Given the description of an element on the screen output the (x, y) to click on. 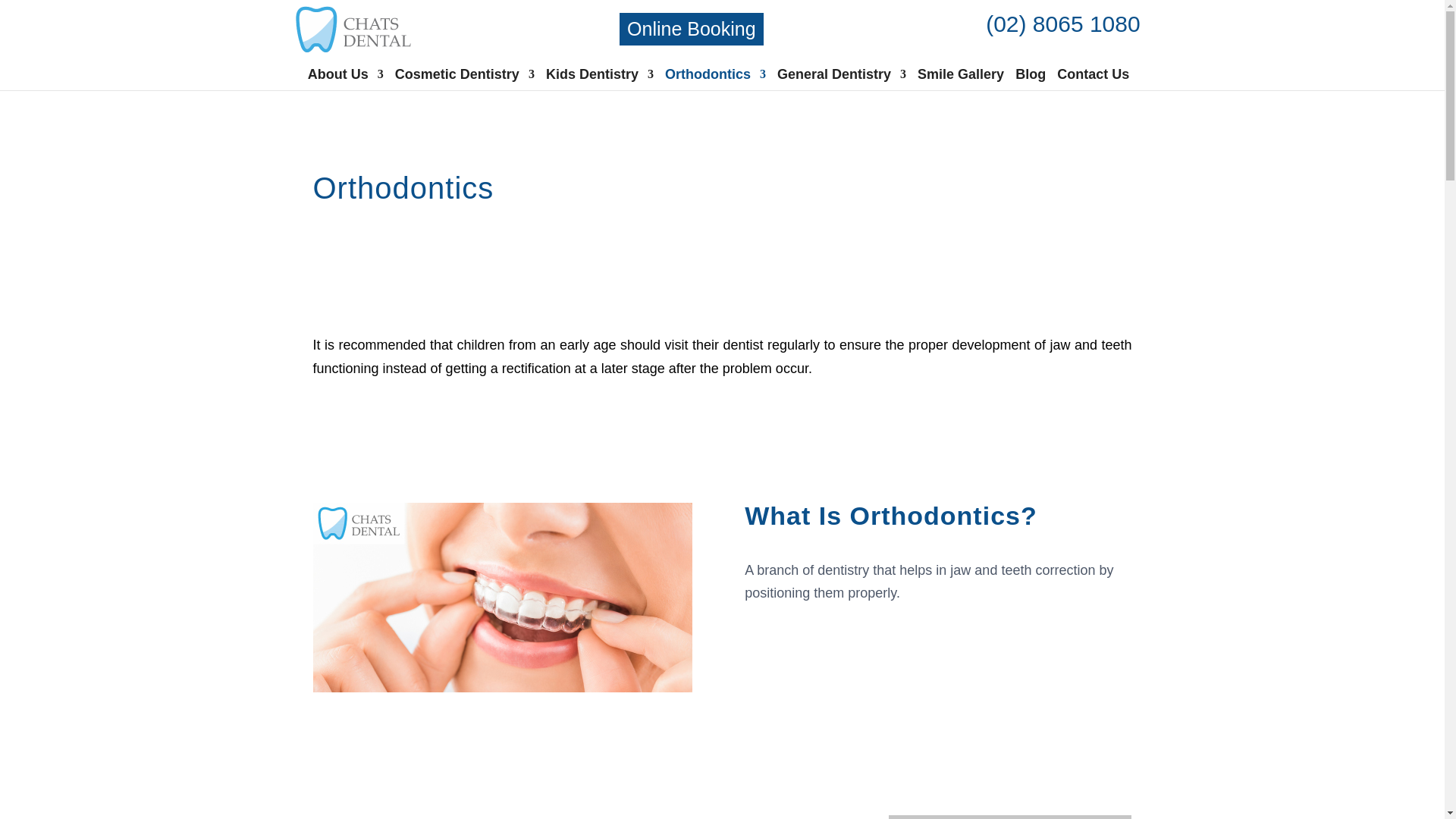
About Us (345, 79)
General Dentistry (841, 79)
Online Booking (691, 29)
Cosmetic Dentistry (464, 79)
Kids Dentistry (599, 79)
Orthodontics (715, 79)
